Given the description of an element on the screen output the (x, y) to click on. 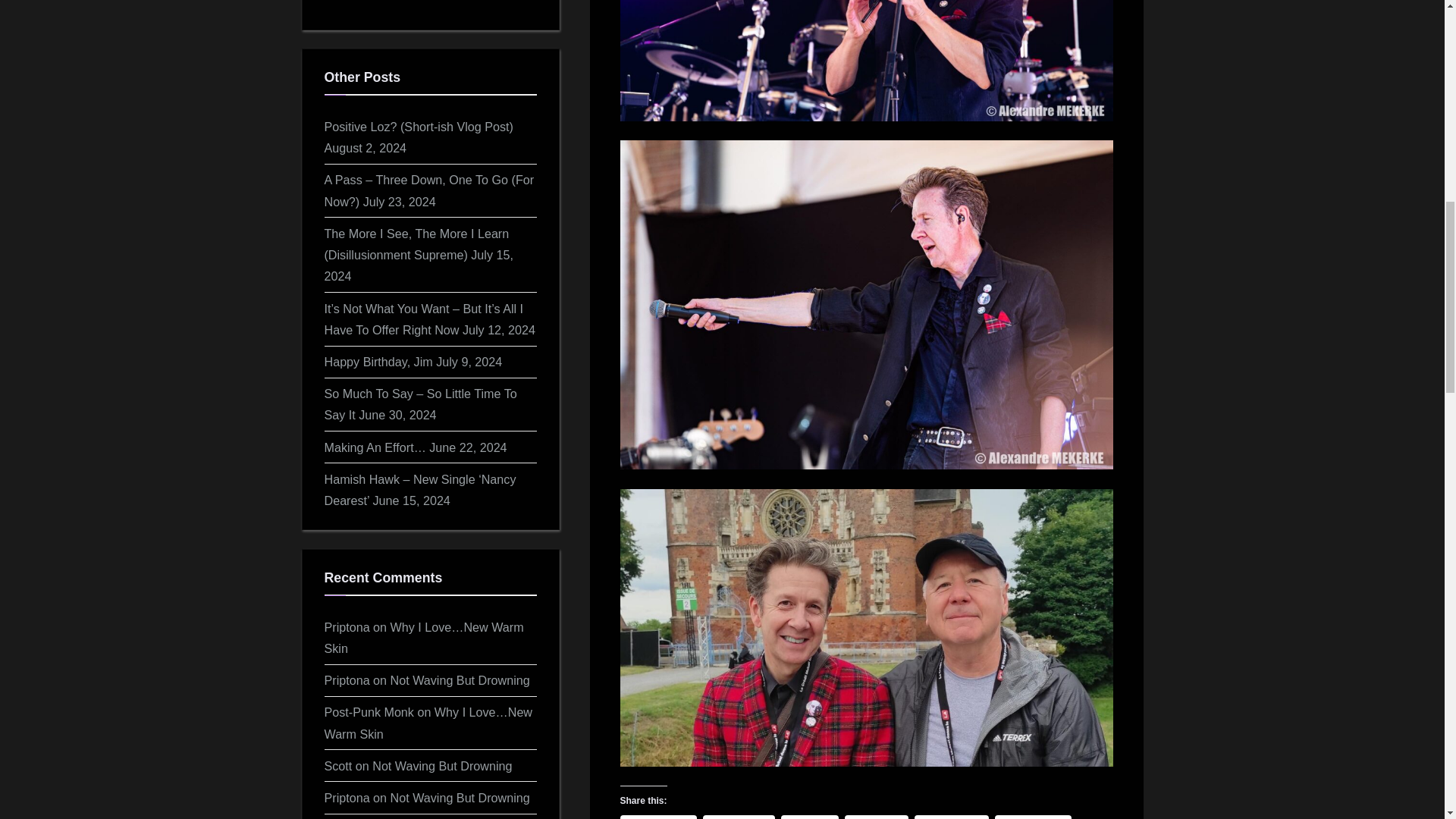
Click to share on Mastodon (1032, 816)
Facebook (658, 816)
Click to share on Facebook (658, 816)
Pinterest (738, 816)
Telegram (951, 816)
Click to share on Tumblr (876, 816)
Click to email a link to a friend (810, 816)
Click to share on Pinterest (738, 816)
Mastodon (1032, 816)
Email (810, 816)
Click to share on Telegram (951, 816)
Tumblr (876, 816)
